Given the description of an element on the screen output the (x, y) to click on. 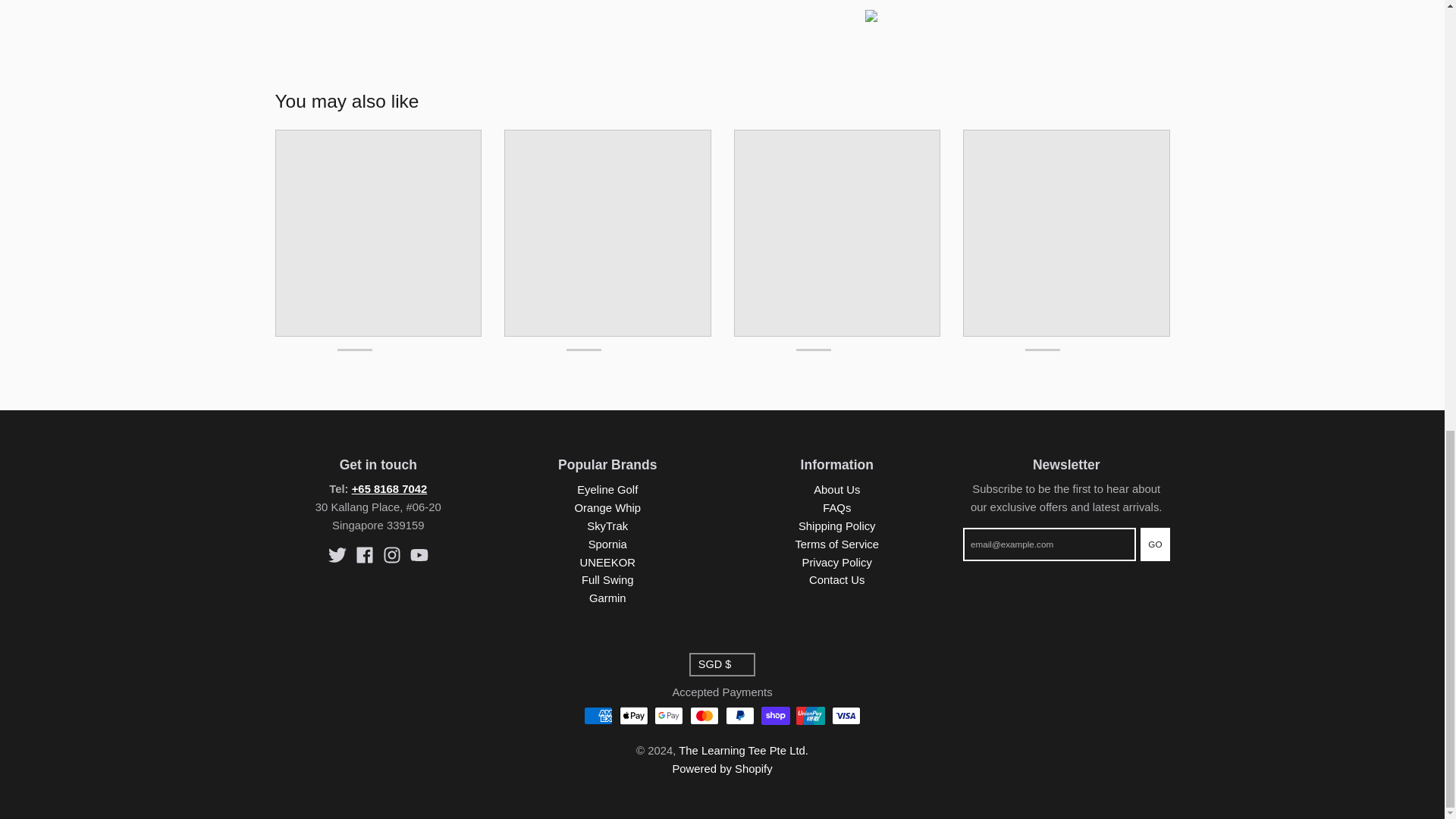
Facebook - The Learning Tee Pte Ltd. (364, 555)
tel:6581687042 (390, 489)
YouTube - The Learning Tee Pte Ltd. (419, 555)
Twitter - The Learning Tee Pte Ltd. (337, 555)
Instagram - The Learning Tee Pte Ltd. (391, 555)
